Given the description of an element on the screen output the (x, y) to click on. 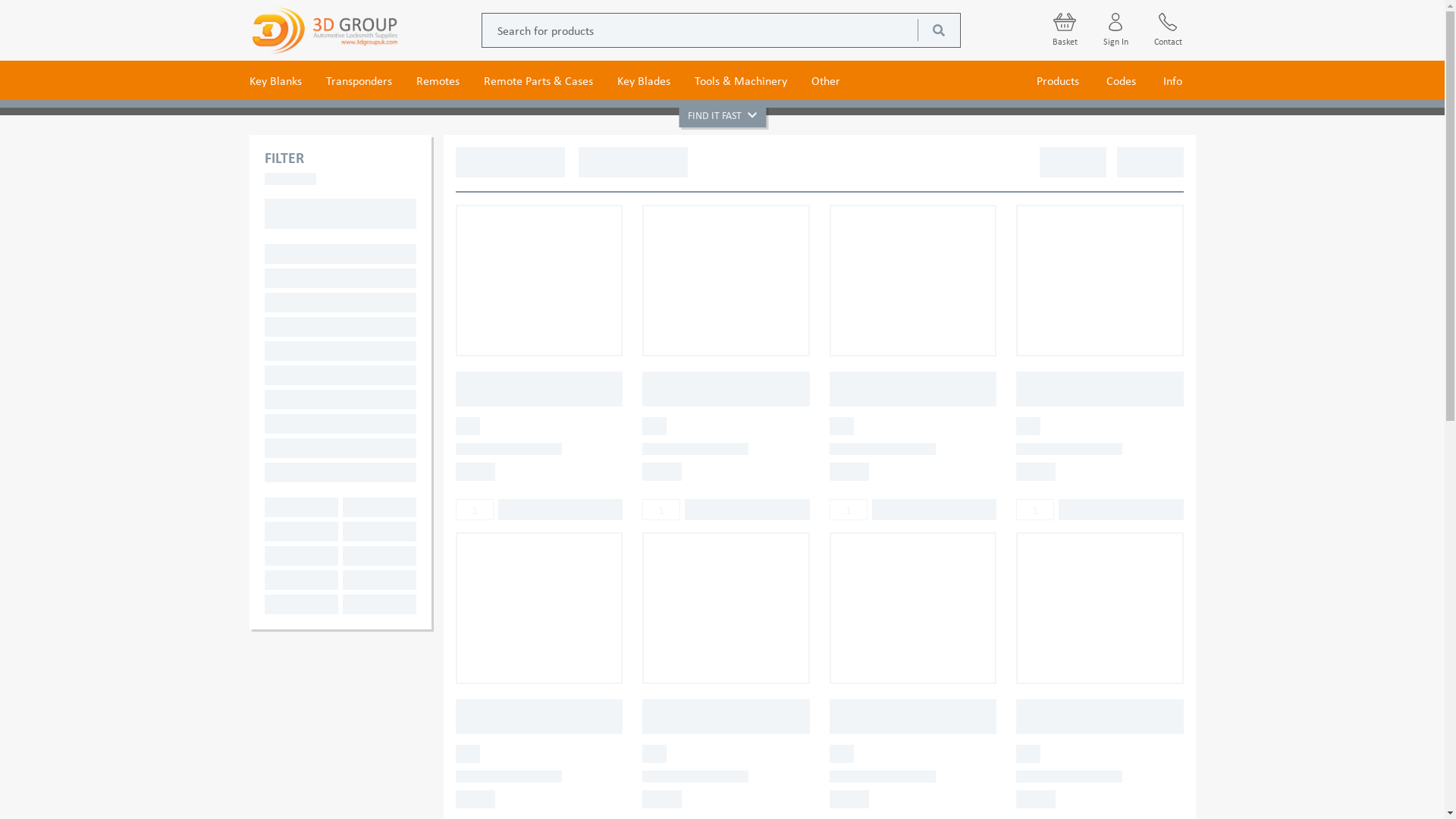
Codes Element type: text (1120, 80)
Key Blades Element type: text (643, 80)
Other Element type: text (825, 80)
Tools & Machinery Element type: text (740, 80)
Key Blanks Element type: text (274, 80)
Transponders Element type: text (358, 80)
Remote Parts & Cases Element type: text (538, 80)
Products Element type: text (1056, 80)
Contact Element type: text (1168, 29)
Info Element type: text (1172, 80)
Search Element type: hover (938, 30)
Sign In Element type: text (1114, 29)
FIND IT FAST Element type: text (721, 113)
Remotes Element type: text (436, 80)
Basket Element type: text (1064, 29)
